Given the description of an element on the screen output the (x, y) to click on. 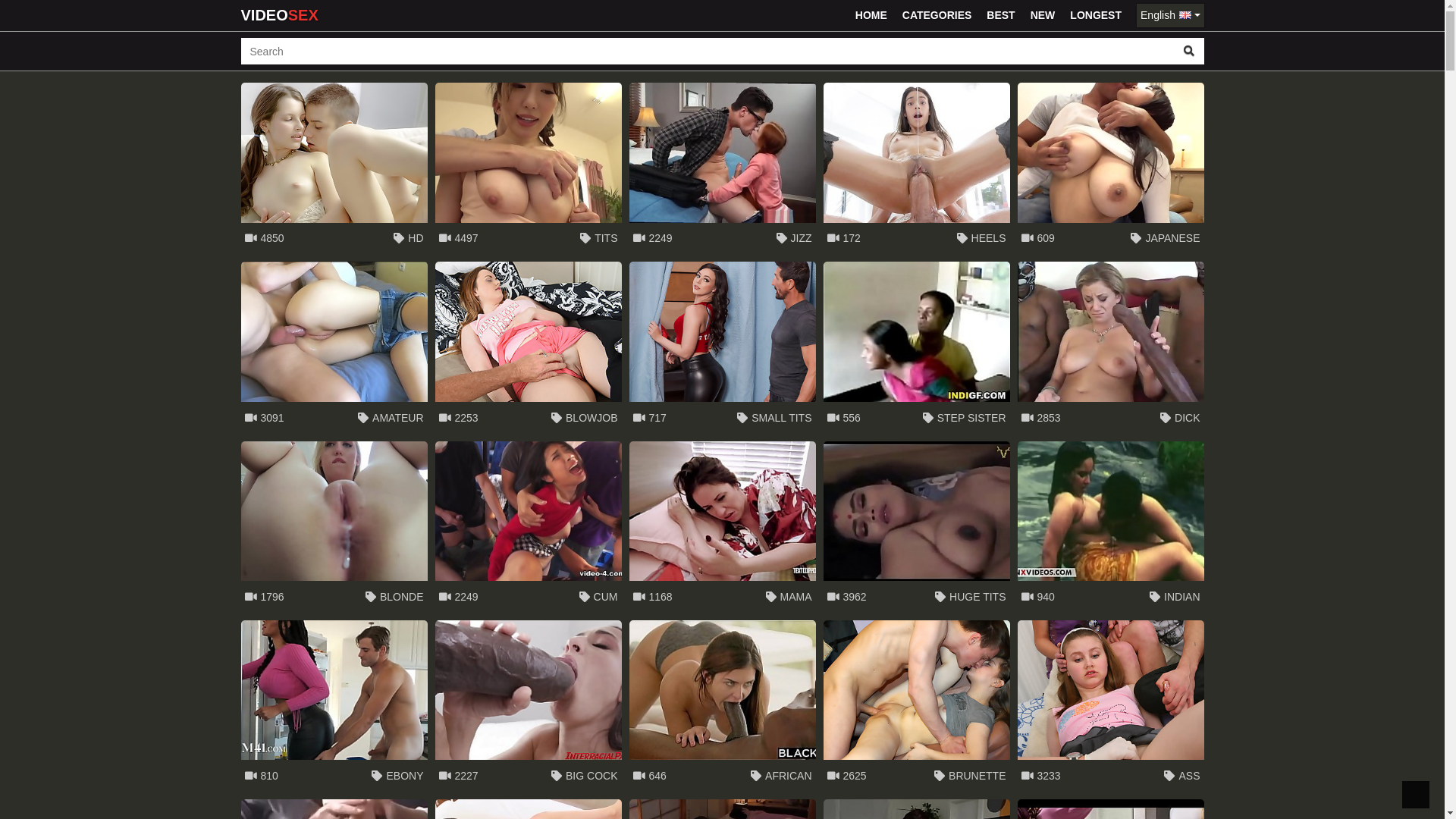
3091
AMATEUR Element type: text (334, 347)
646
AFRICAN Element type: text (722, 705)
2853
DICK Element type: text (1110, 347)
2227
BIG COCK Element type: text (528, 705)
2249
JIZZ Element type: text (722, 168)
For searching please use latin letters Element type: hover (707, 50)
3233
ASS Element type: text (1110, 705)
LONGEST Element type: text (1095, 15)
English Element type: text (1169, 15)
810
EBONY Element type: text (334, 705)
1168
MAMA Element type: text (722, 526)
556
STEP SISTER Element type: text (916, 347)
2253
BLOWJOB Element type: text (528, 347)
4850
HD Element type: text (334, 168)
2249
CUM Element type: text (528, 526)
VIDEOSEX Element type: text (279, 15)
CATEGORIES Element type: text (937, 15)
4497
TITS Element type: text (528, 168)
2625
BRUNETTE Element type: text (916, 705)
Search Element type: text (1188, 50)
609
JAPANESE Element type: text (1110, 168)
3962
HUGE TITS Element type: text (916, 526)
BEST Element type: text (1000, 15)
172
HEELS Element type: text (916, 168)
NEW Element type: text (1042, 15)
1796
BLONDE Element type: text (334, 526)
HOME Element type: text (871, 15)
940
INDIAN Element type: text (1110, 526)
717
SMALL TITS Element type: text (722, 347)
